Given the description of an element on the screen output the (x, y) to click on. 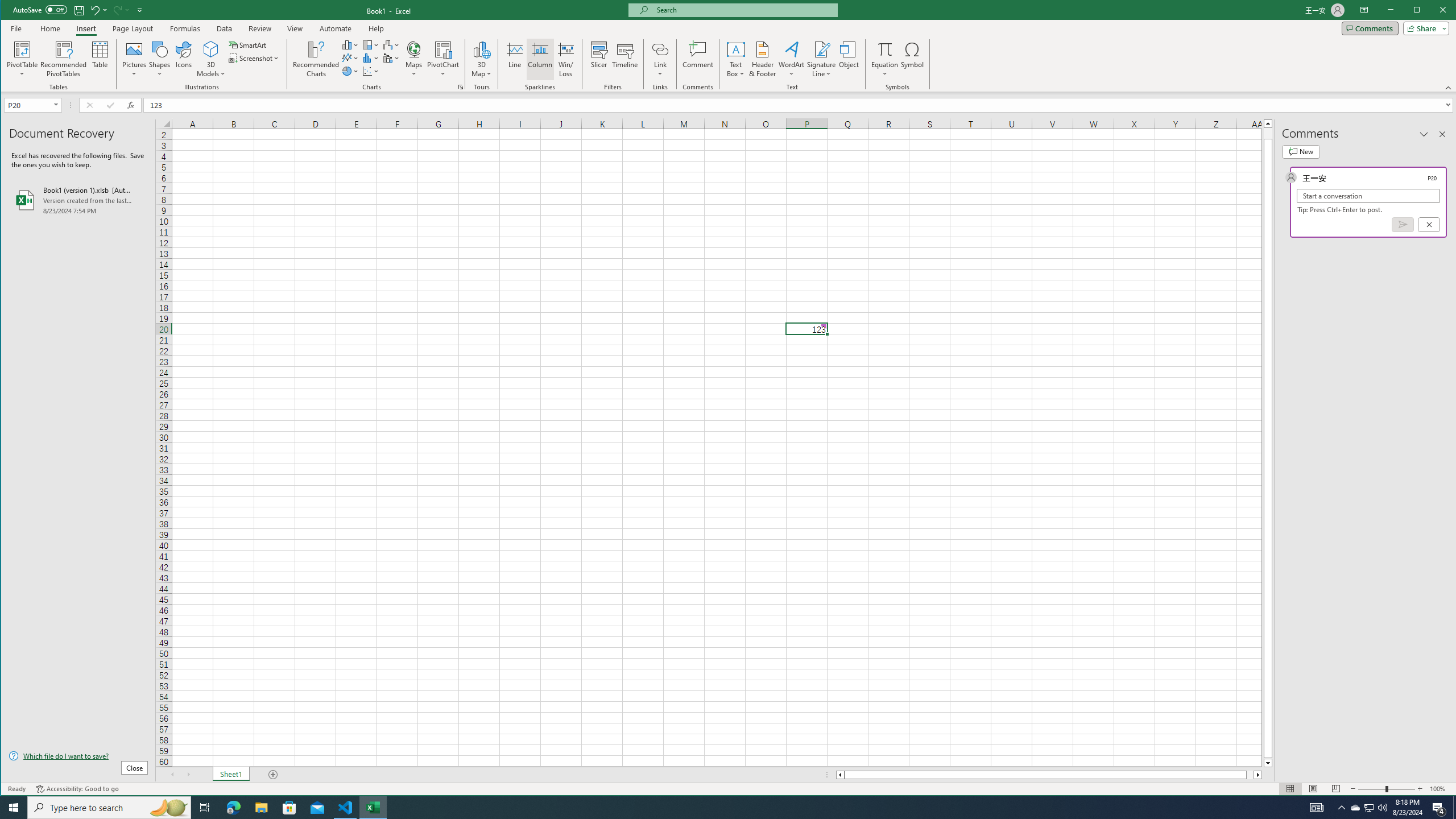
Icons (183, 59)
File Explorer (261, 807)
Search highlights icon opens search home window (167, 807)
Line (514, 59)
Equation (884, 48)
